Given the description of an element on the screen output the (x, y) to click on. 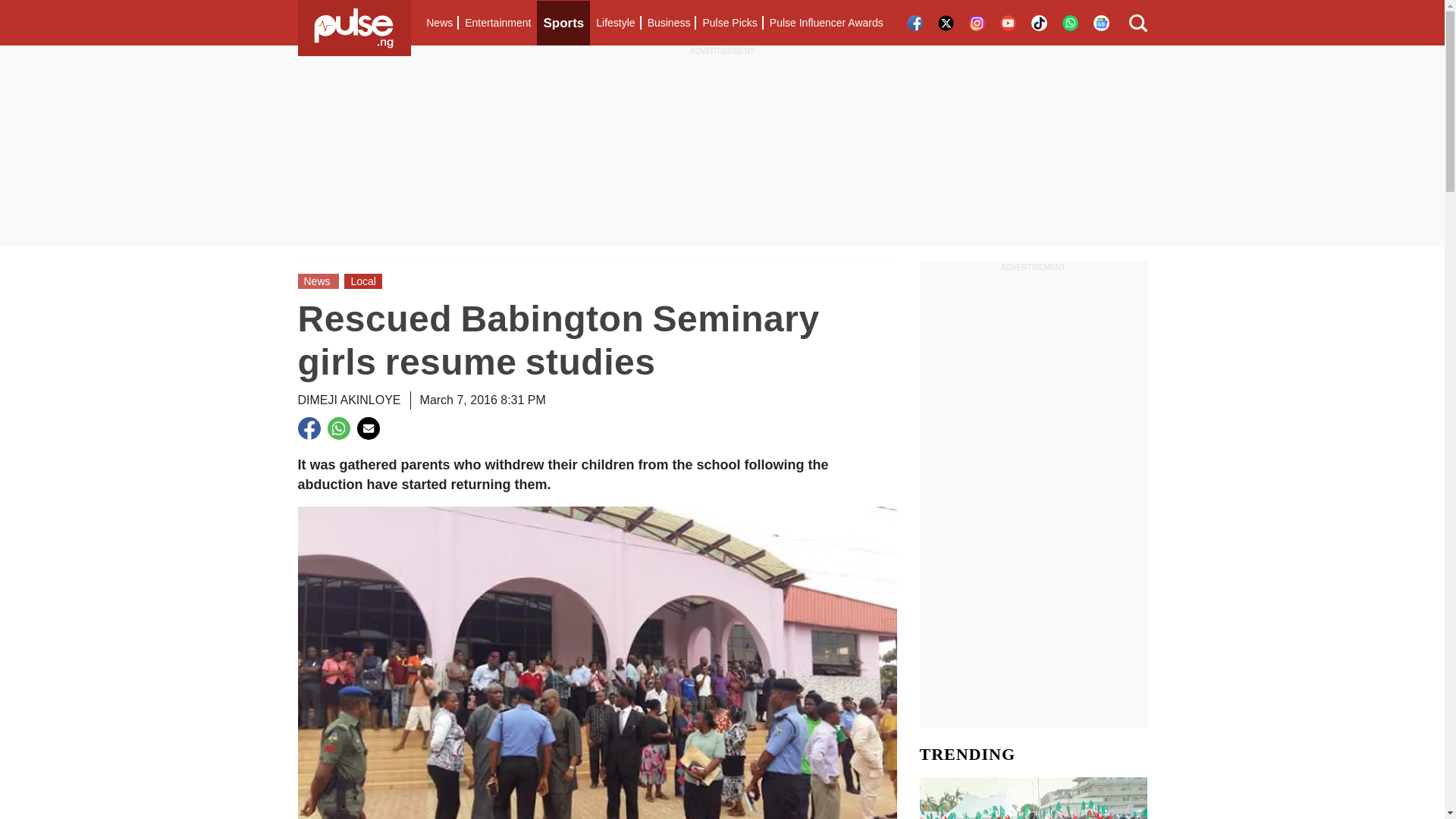
Lifestyle (614, 22)
Business (669, 22)
Entertainment (497, 22)
Sports (563, 22)
